Given the description of an element on the screen output the (x, y) to click on. 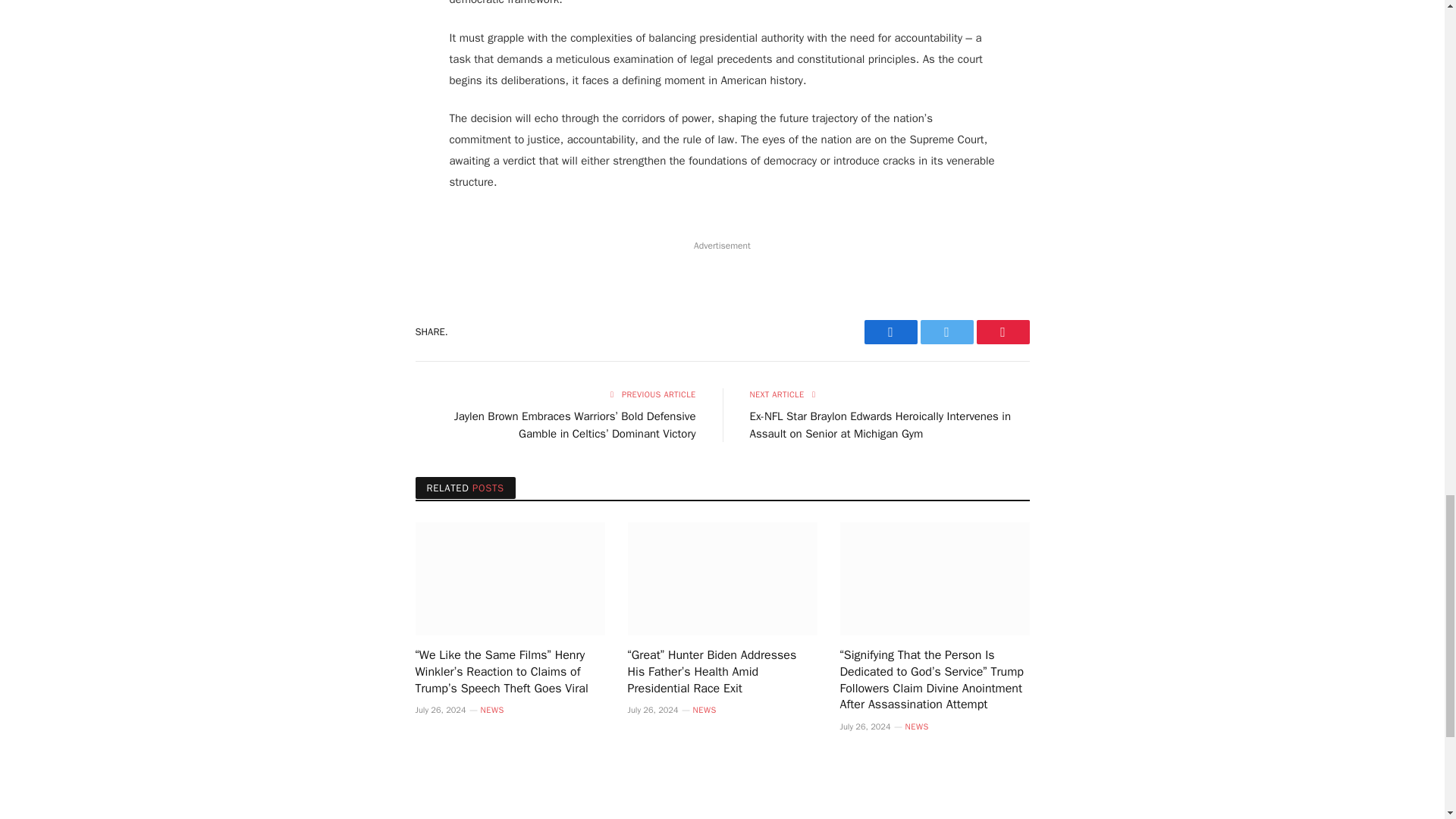
Facebook (890, 331)
NEWS (704, 709)
NEWS (491, 709)
Share on Facebook (890, 331)
Share on Pinterest (1002, 331)
Twitter (947, 331)
Pinterest (1002, 331)
